Given the description of an element on the screen output the (x, y) to click on. 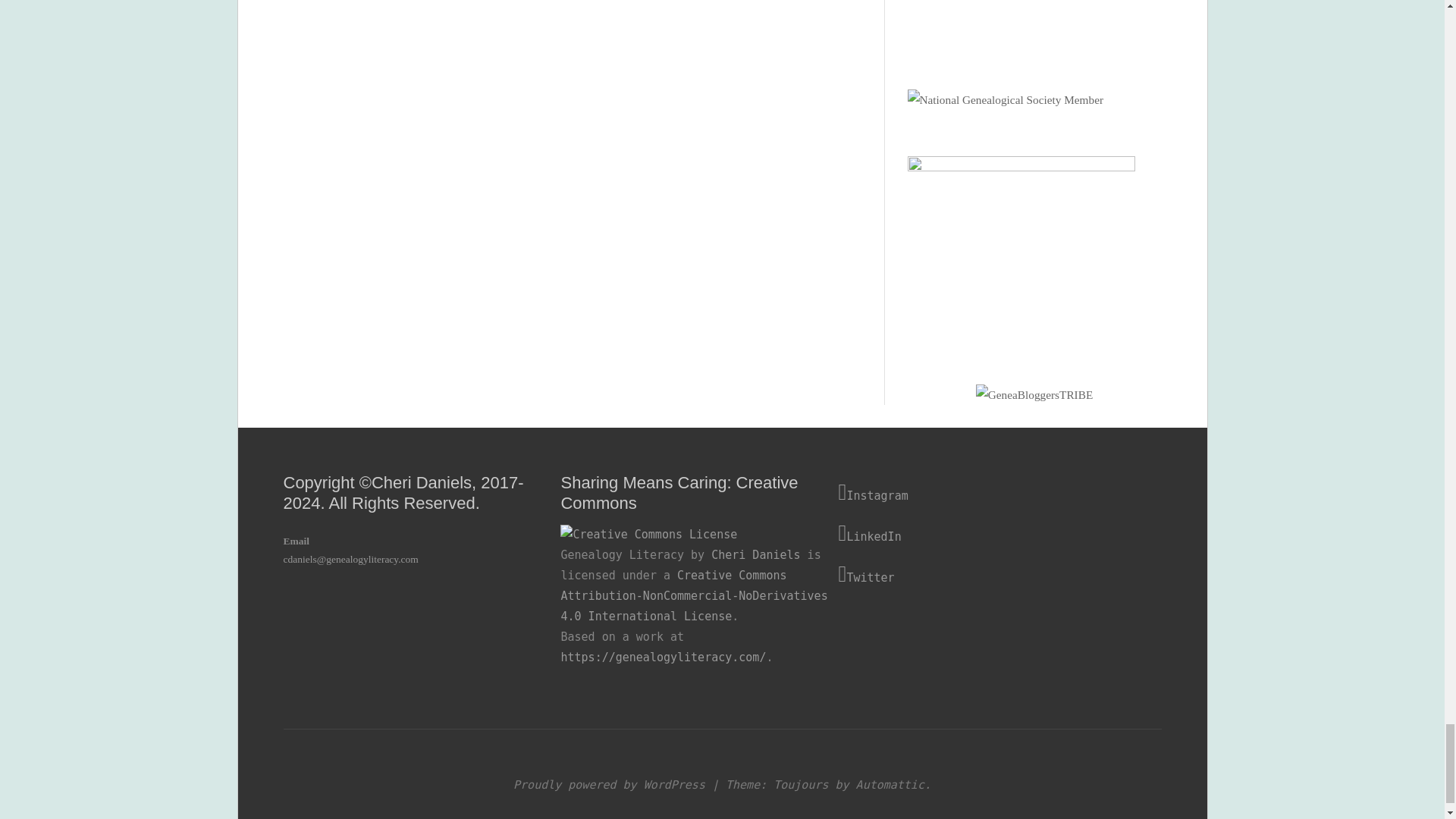
Visit Genealogy Literacy on Instagram (976, 493)
National Genealogical Society Member (1005, 99)
Visit Genealogy Literacy on LinkedIn (976, 534)
GeneaBloggersTRIBE (1034, 394)
Visit Genealogy Literacy on Twitter (976, 575)
